Given the description of an element on the screen output the (x, y) to click on. 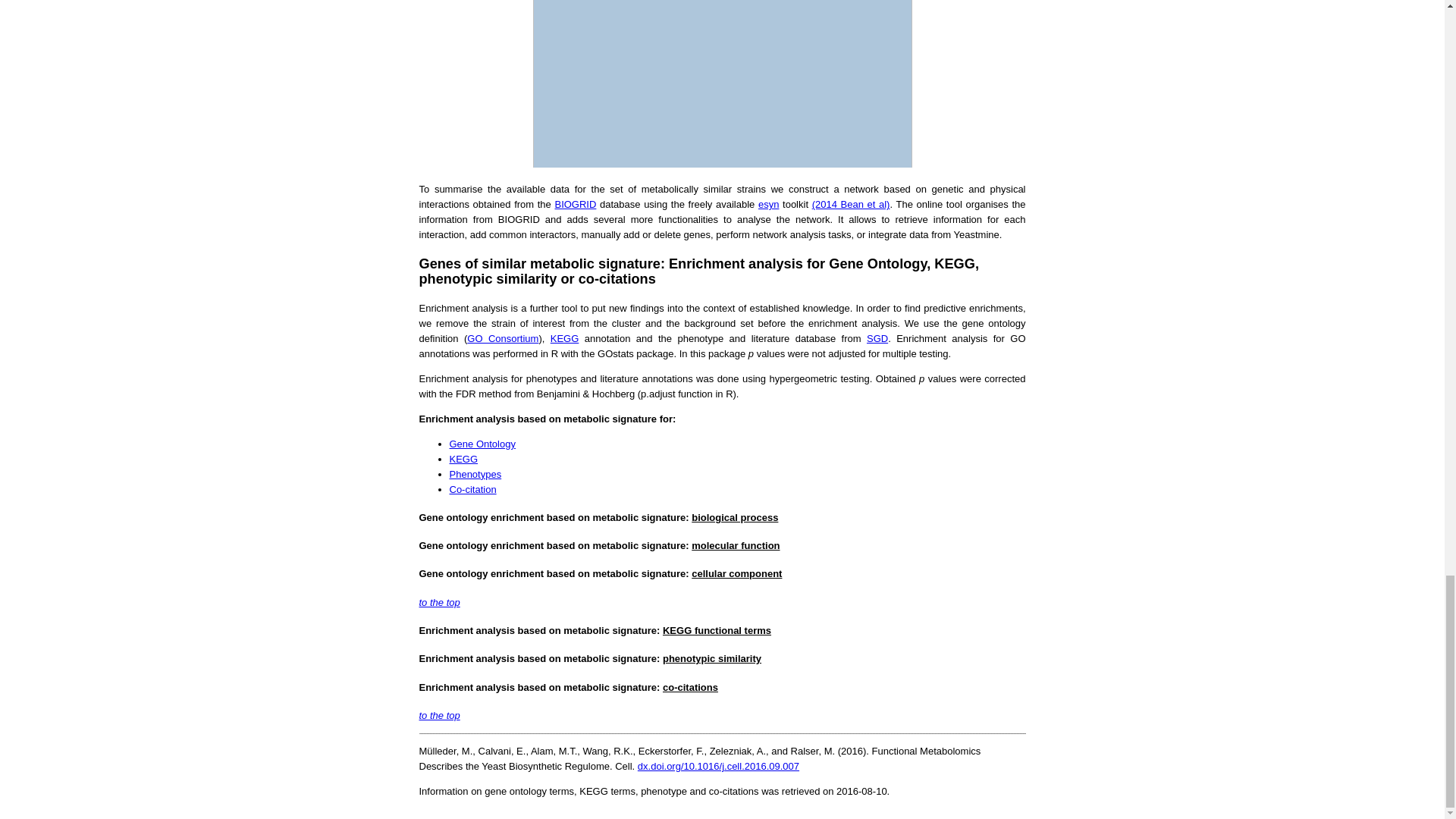
KEGG (462, 459)
BIOGRID (574, 204)
KEGG (564, 337)
to the top (439, 602)
GO Consortium (502, 337)
to the top (439, 715)
Co-citation (472, 489)
Phenotypes (474, 473)
Gene Ontology (481, 443)
